Given the description of an element on the screen output the (x, y) to click on. 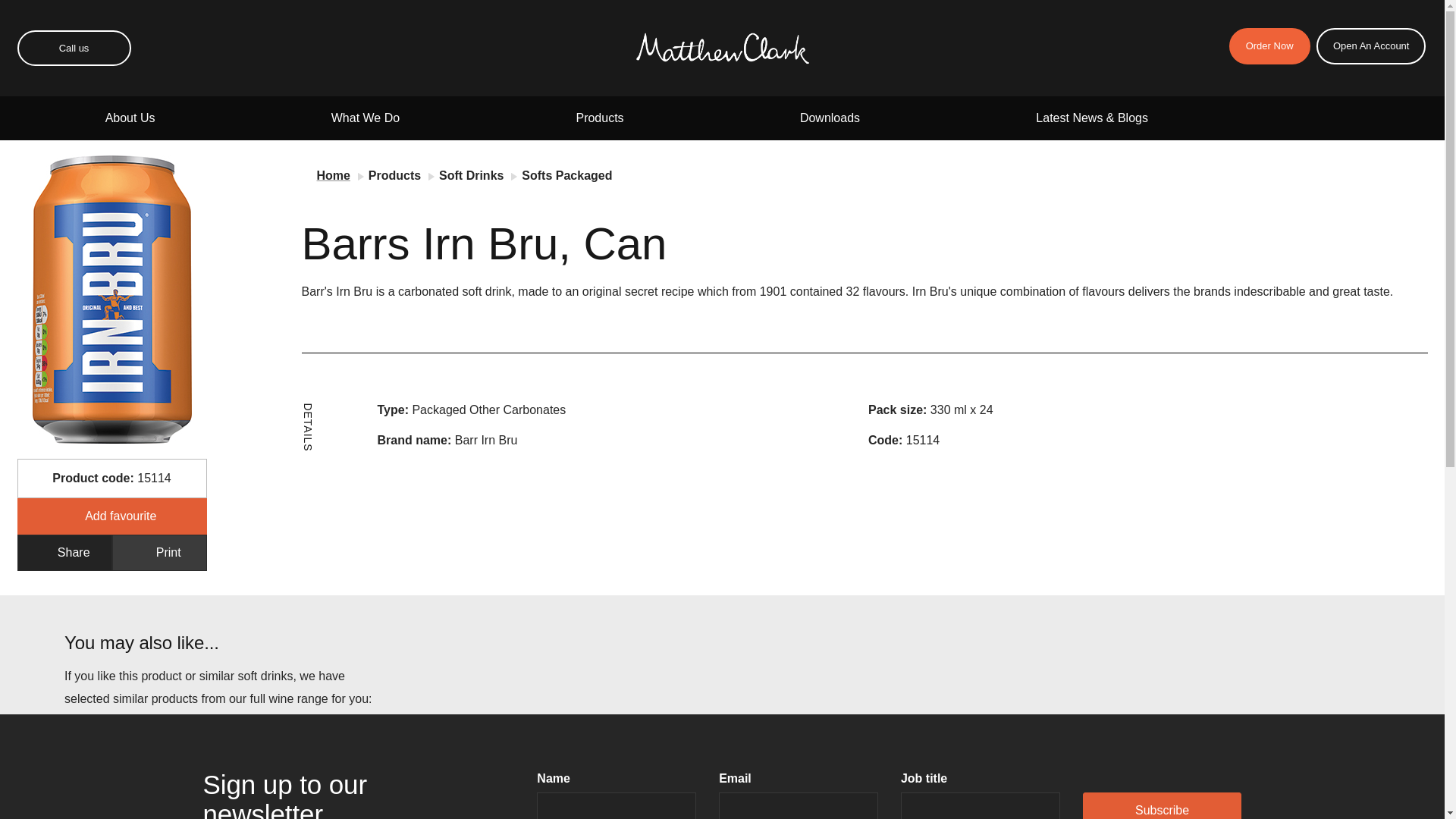
Downloads (829, 118)
Open An Account (1370, 45)
About Us (129, 118)
Products (599, 118)
Order Now (1269, 45)
Call us (73, 48)
What We Do (364, 118)
